Given the description of an element on the screen output the (x, y) to click on. 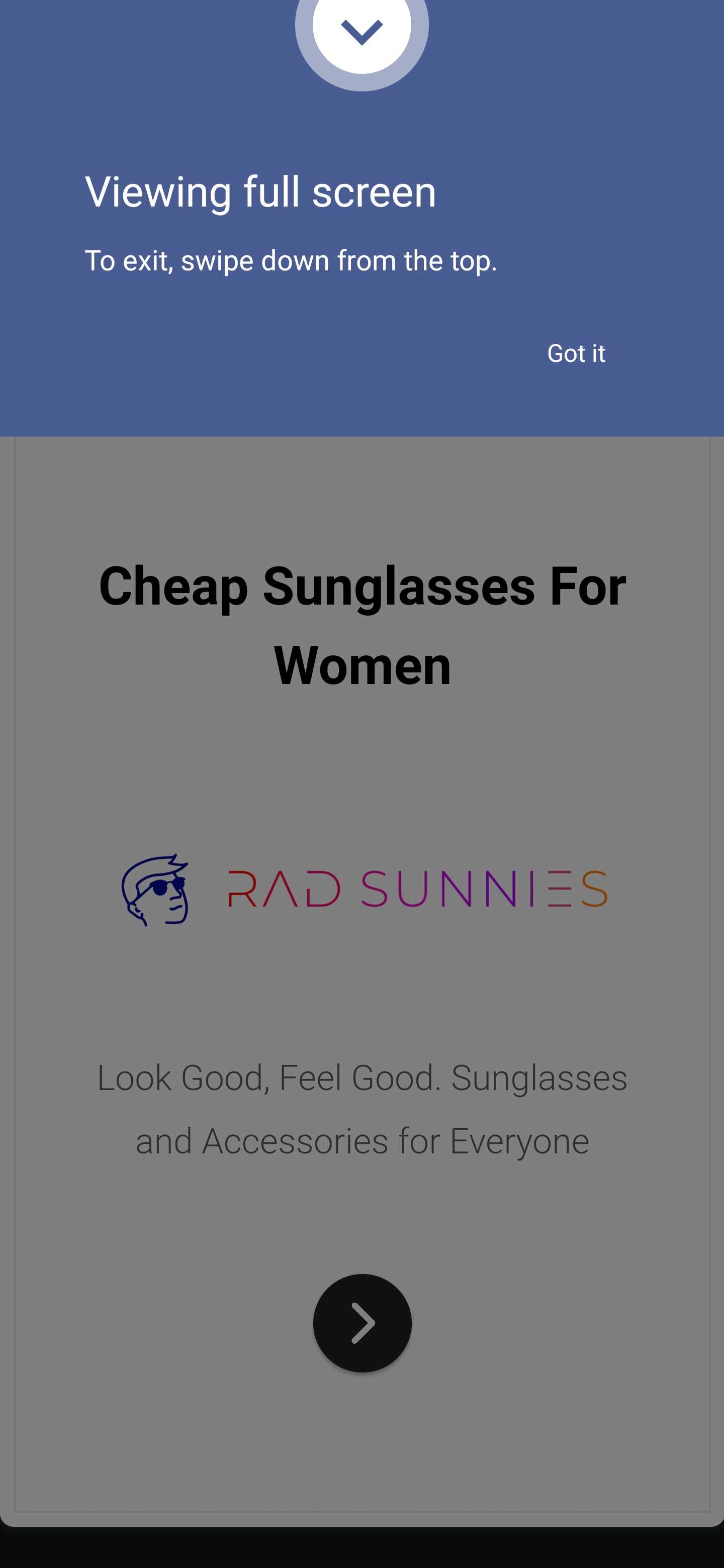
Got it (575, 352)
